Given the description of an element on the screen output the (x, y) to click on. 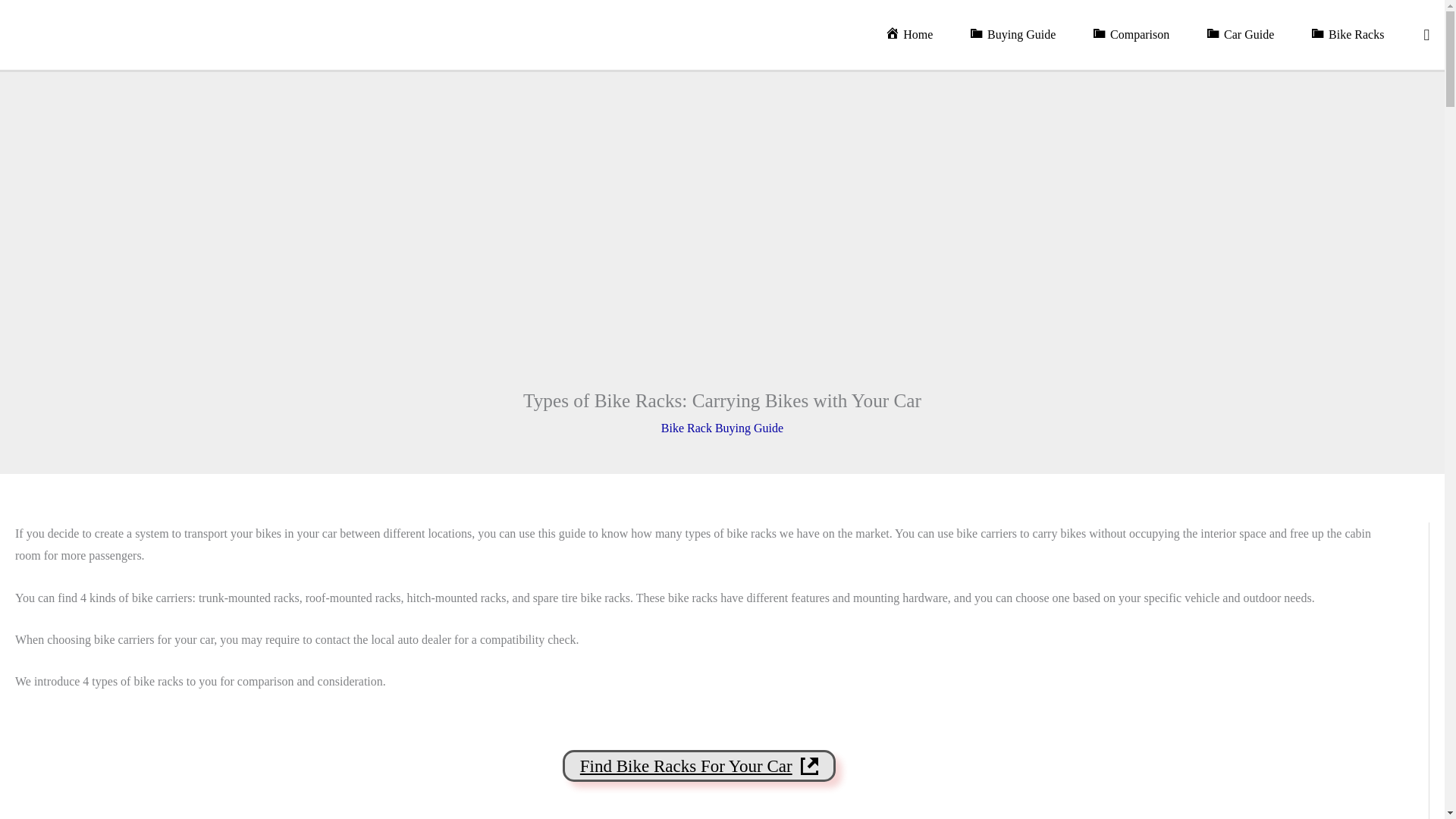
Buying Guide (1018, 34)
Bike Racks (1352, 34)
Comparison (1136, 34)
Car Guide (1245, 34)
Find Bike Racks For Your Car (698, 765)
Bike Rack Buying Guide (722, 427)
Home (914, 34)
